Given the description of an element on the screen output the (x, y) to click on. 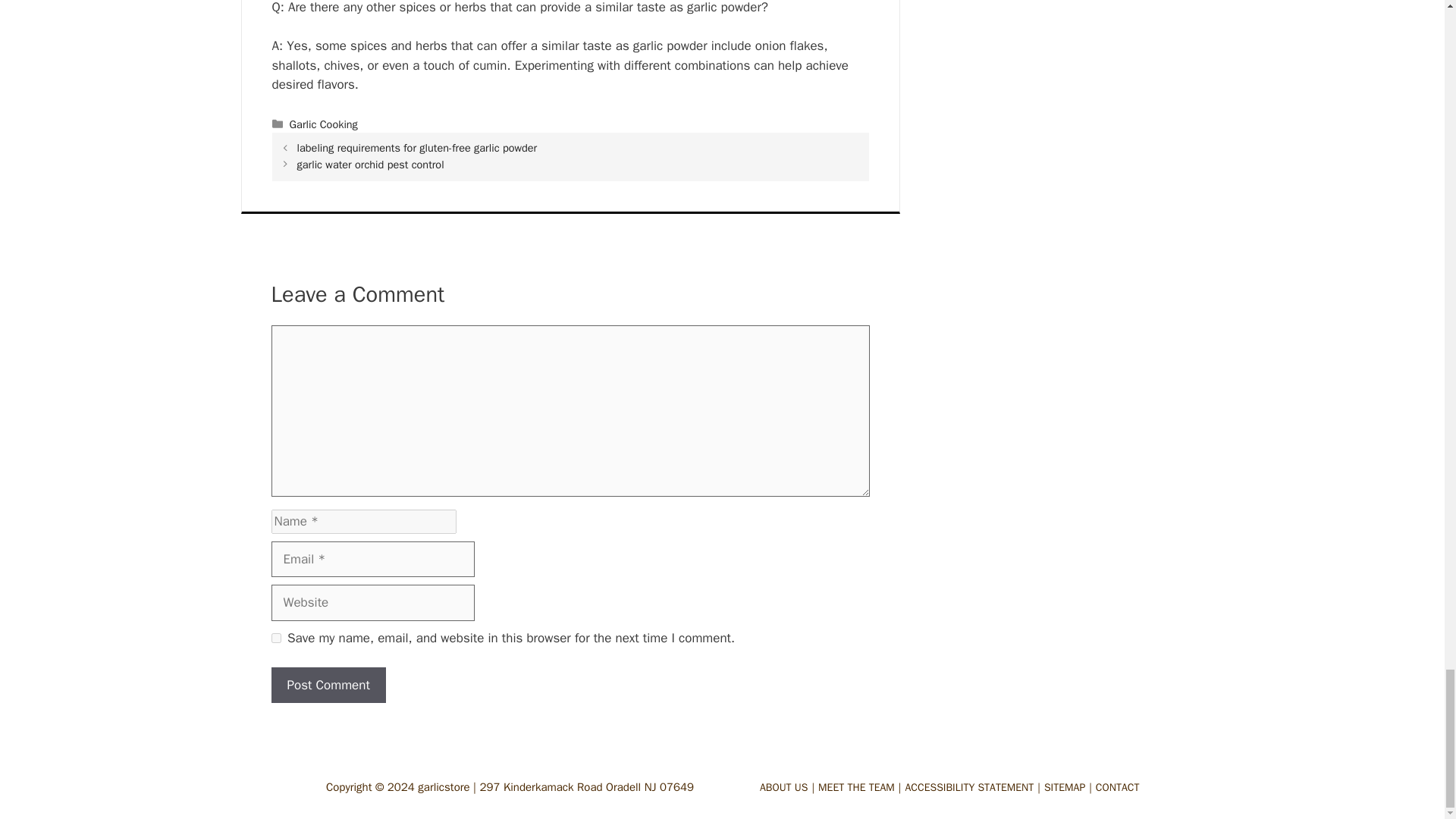
yes (275, 637)
labeling requirements for gluten-free garlic powder (417, 147)
Garlic Cooking (323, 124)
SITEMAP (1069, 787)
ABOUT US (789, 787)
Post Comment (327, 685)
Post Comment (327, 685)
ACCESSIBILITY STATEMENT (973, 787)
garlic water orchid pest control (370, 164)
Previous (417, 147)
